Given the description of an element on the screen output the (x, y) to click on. 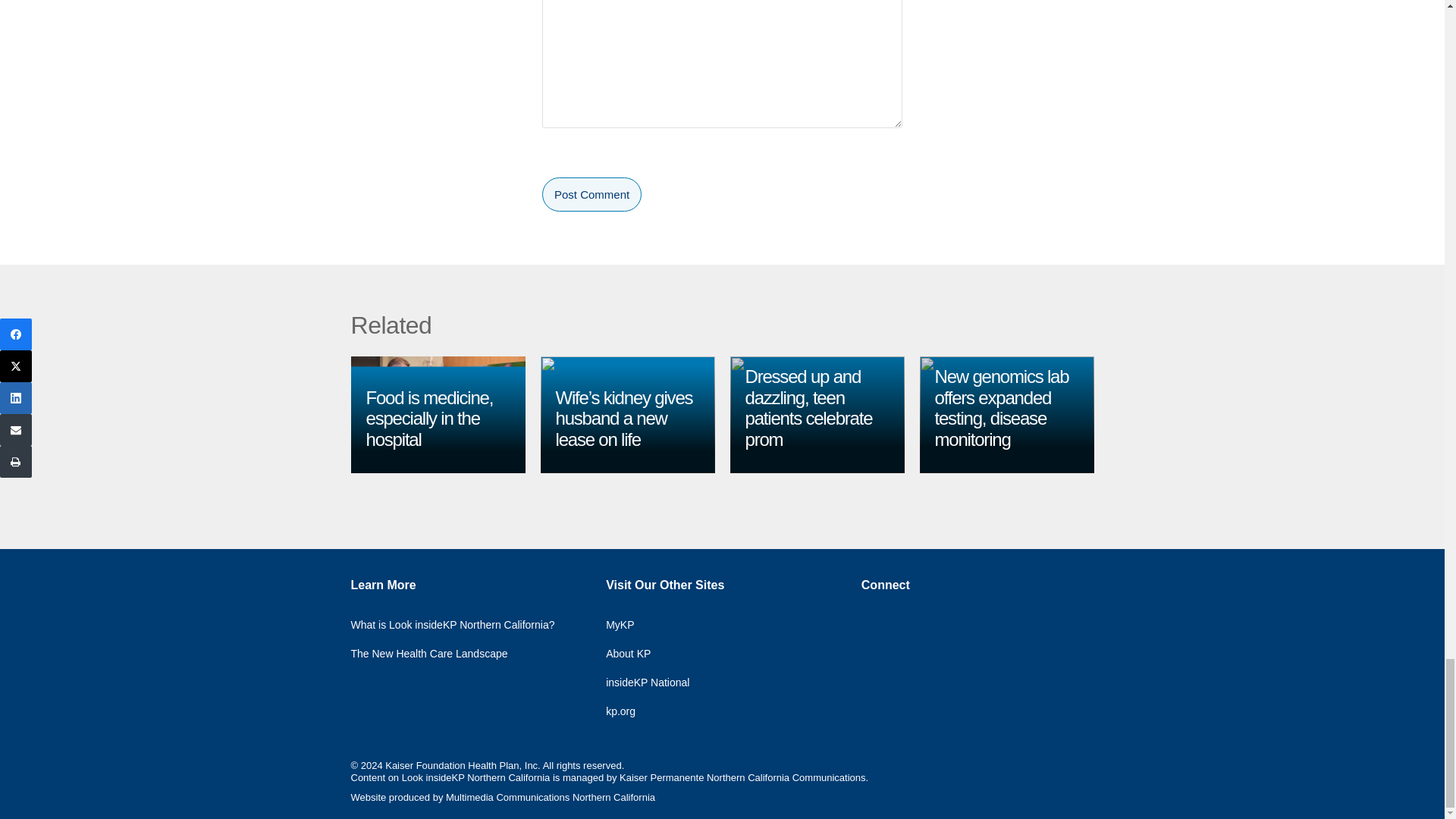
Twitter (904, 617)
Food is medicine, especially in the hospital (429, 418)
About KP (638, 649)
Dressed up and dazzling, teen patients celebrate prom (808, 407)
The New Health Care Landscape (439, 649)
kp.org (631, 706)
insideKP National (658, 678)
New genomics lab offers expanded testing, disease monitoring (1001, 407)
Food is medicine, especially in the hospital (429, 418)
What is Look insideKP Northern California? (463, 620)
Post Comment (591, 194)
New genomics lab offers expanded testing, disease monitoring (1001, 407)
Dressed up and dazzling, teen patients celebrate prom (808, 407)
YouTube (873, 651)
Linked In (947, 617)
